Given the description of an element on the screen output the (x, y) to click on. 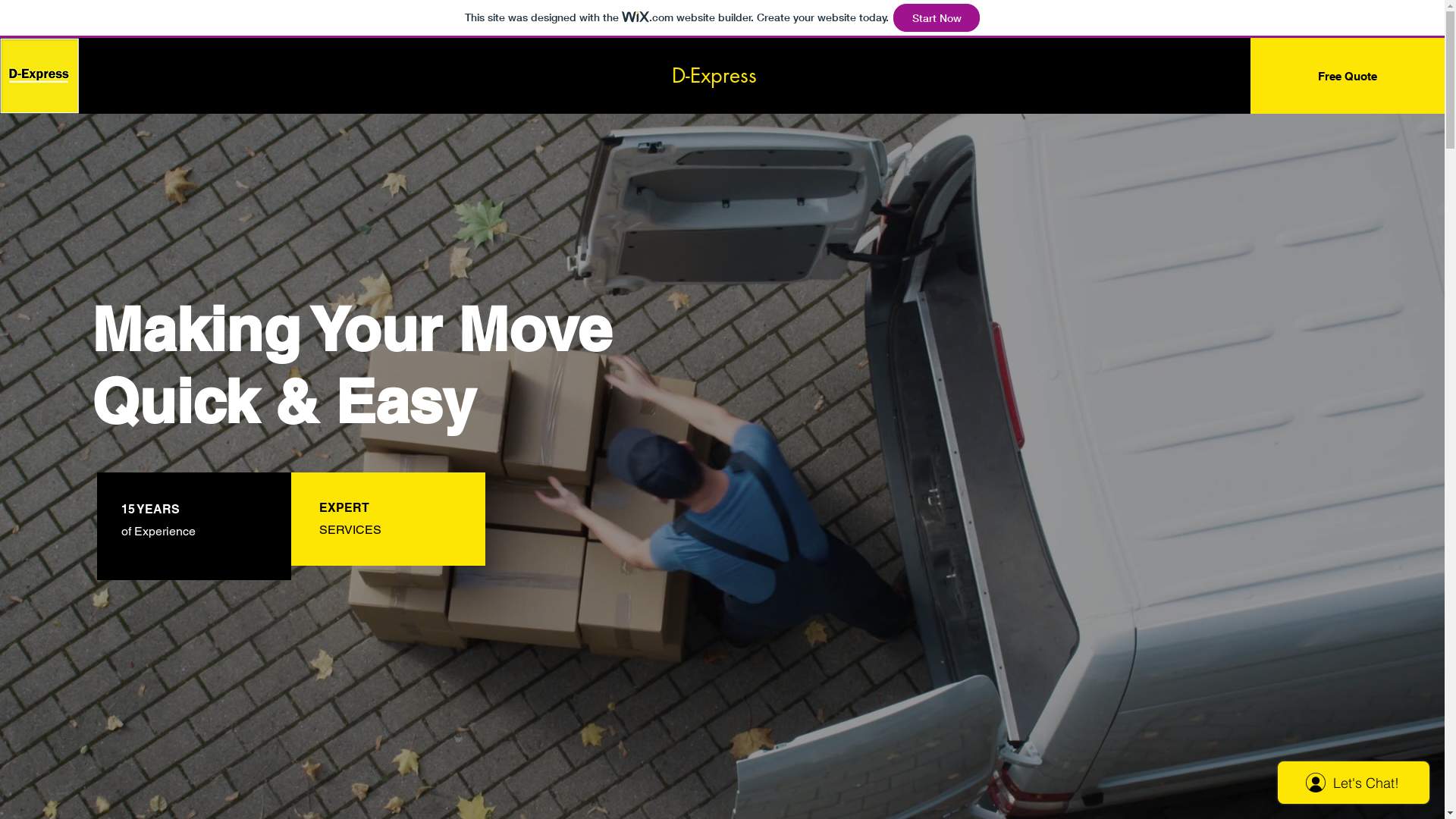
SERVICES Element type: text (350, 529)
Free Quote Element type: text (1347, 75)
EXPERT Element type: text (344, 507)
D-Express Element type: text (714, 75)
